Given the description of an element on the screen output the (x, y) to click on. 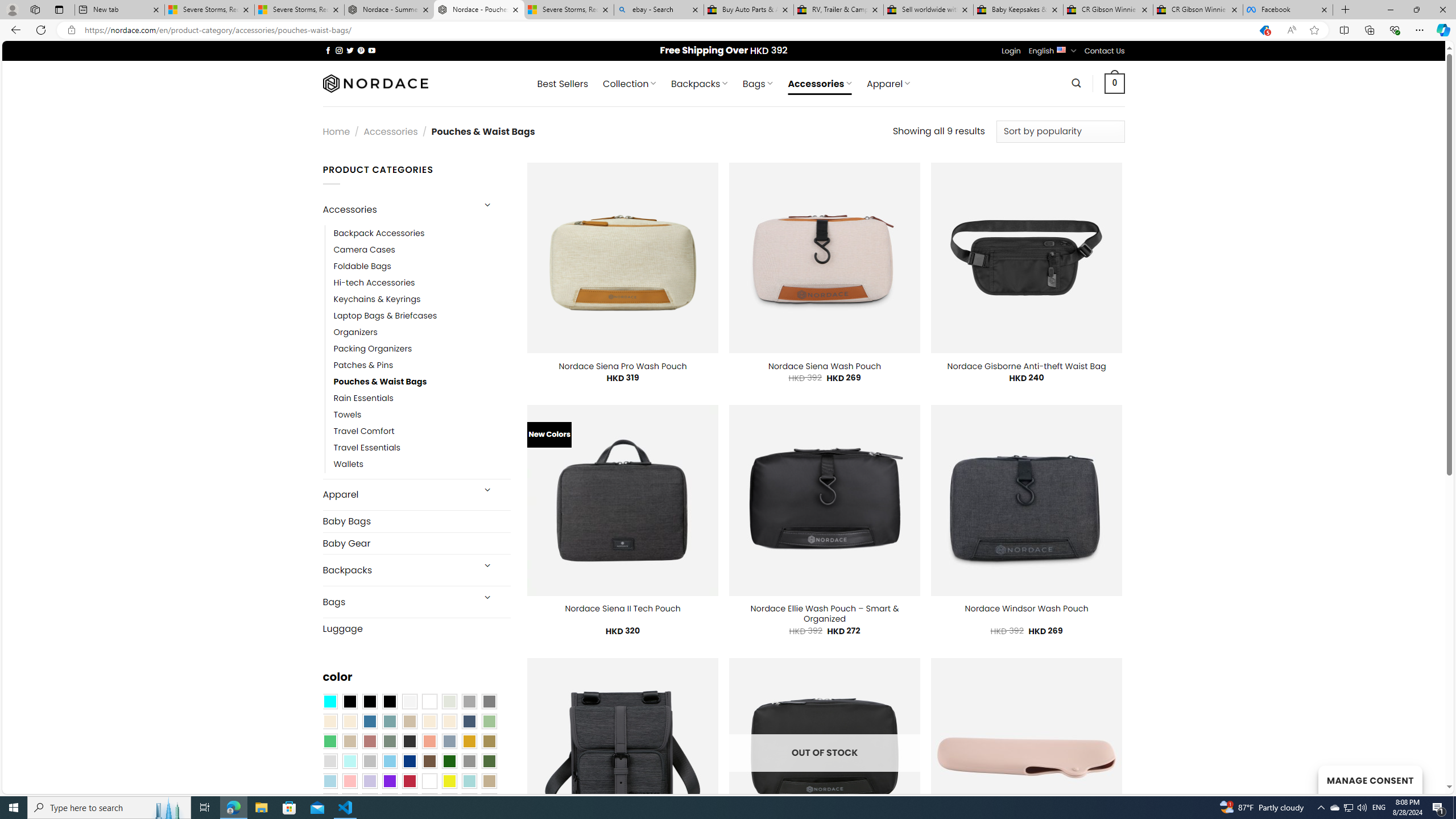
Bags (397, 602)
Laptop Bags & Briefcases (422, 316)
Nordace Windsor Wash Pouch (1026, 608)
Silver (369, 761)
Pearly White (408, 701)
Camera Cases (422, 248)
Brown (429, 761)
Emerald Green (329, 741)
Baby Bags (416, 521)
Packing Organizers (422, 348)
Purple (389, 780)
